Given the description of an element on the screen output the (x, y) to click on. 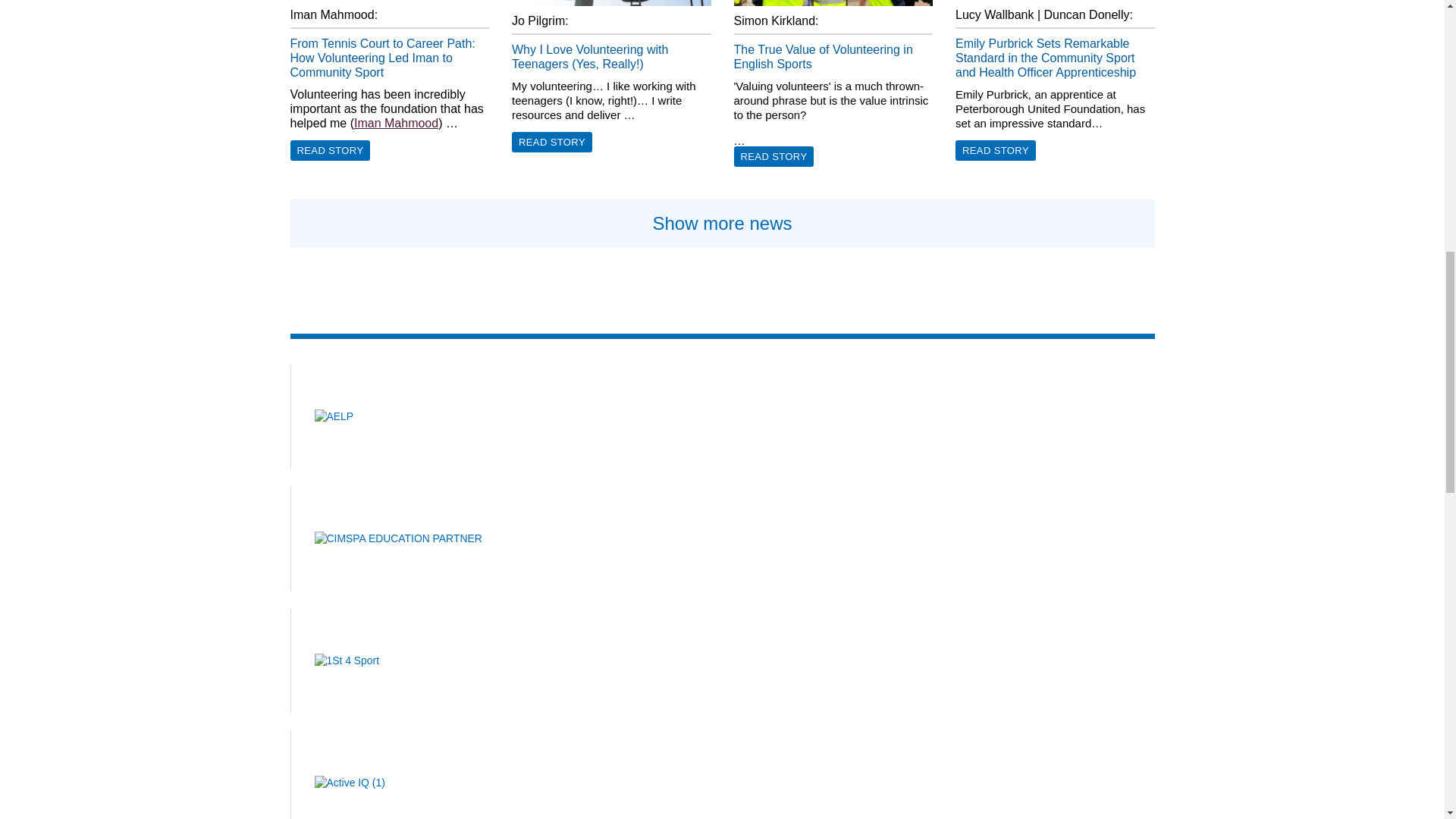
Consultancy Team (395, 123)
